Given the description of an element on the screen output the (x, y) to click on. 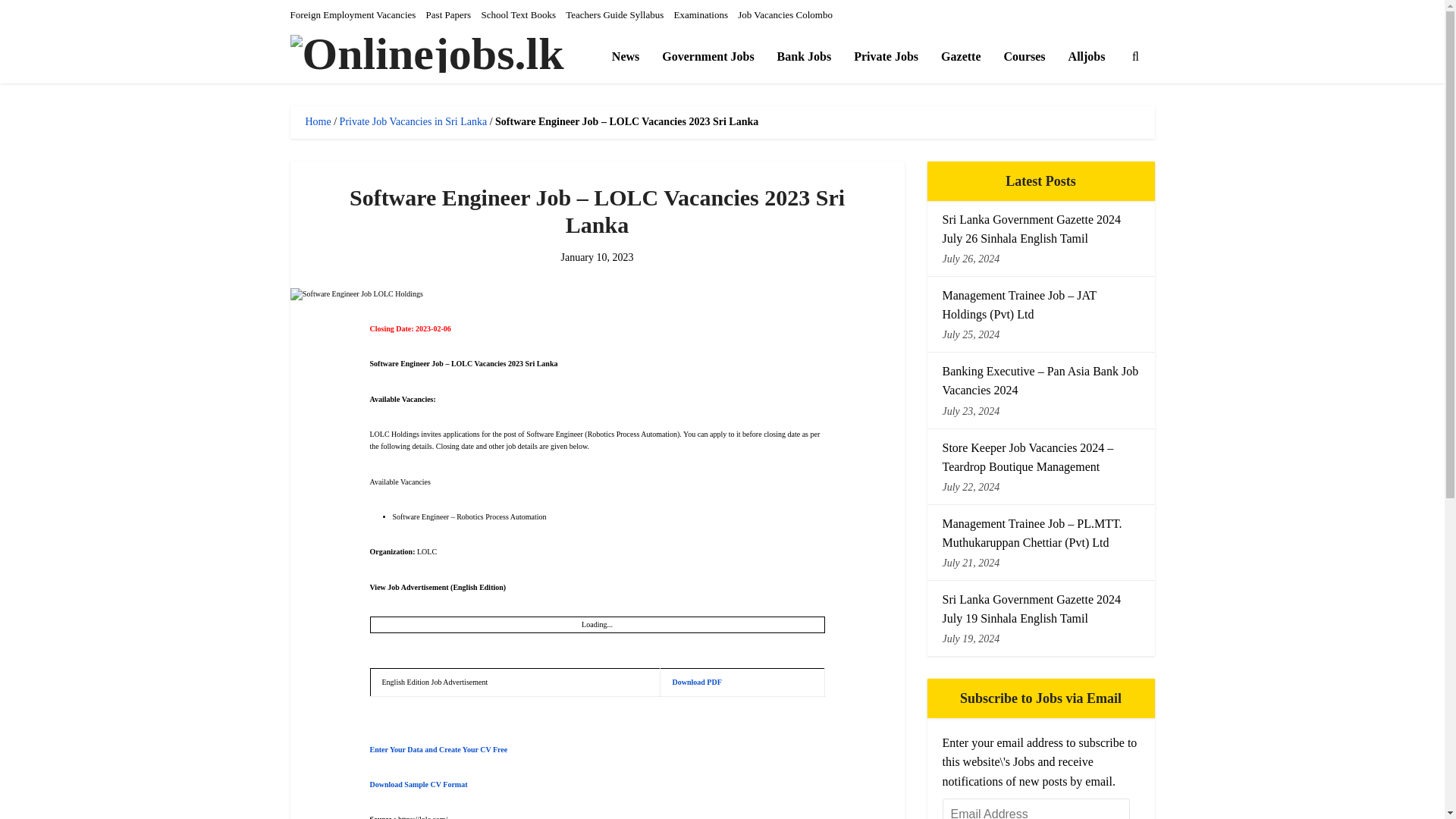
News (624, 56)
School Text Books (518, 14)
Enter Your Data and Create Your CV Free (438, 749)
Job Vacancies Colombo (785, 14)
Foreign Employment Vacancies (351, 14)
Private Job Vacancies in Sri Lanka (413, 121)
Government Jobs (707, 56)
Private Jobs (886, 56)
Past Papers (448, 14)
Home (317, 121)
Download Sample CV Format (418, 784)
Examinations (701, 14)
Courses (1024, 56)
Teachers Guide Syllabus (614, 14)
